Given the description of an element on the screen output the (x, y) to click on. 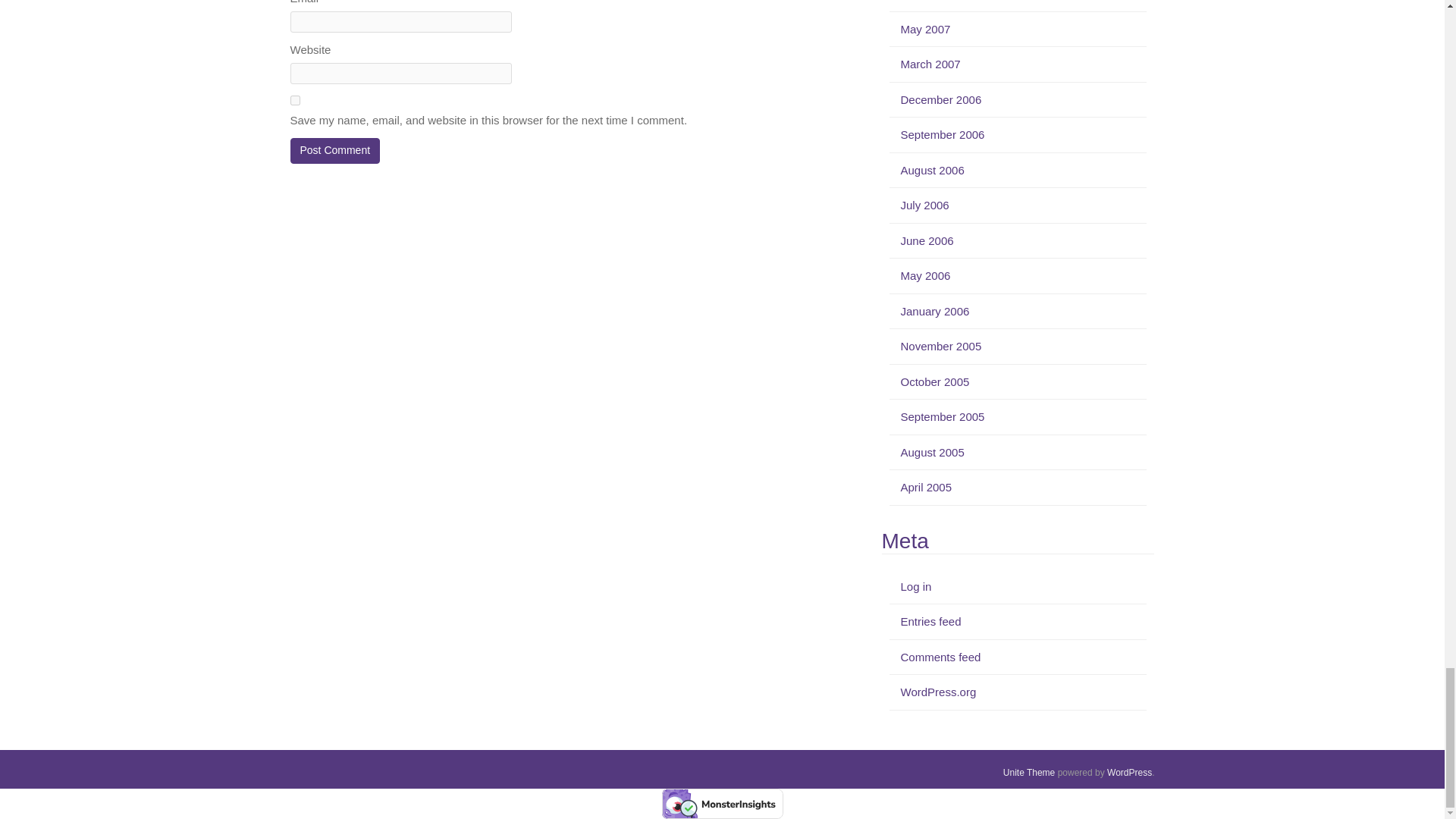
Post Comment (334, 150)
WordPress (1128, 772)
Unite Theme (1028, 772)
yes (294, 100)
